Given the description of an element on the screen output the (x, y) to click on. 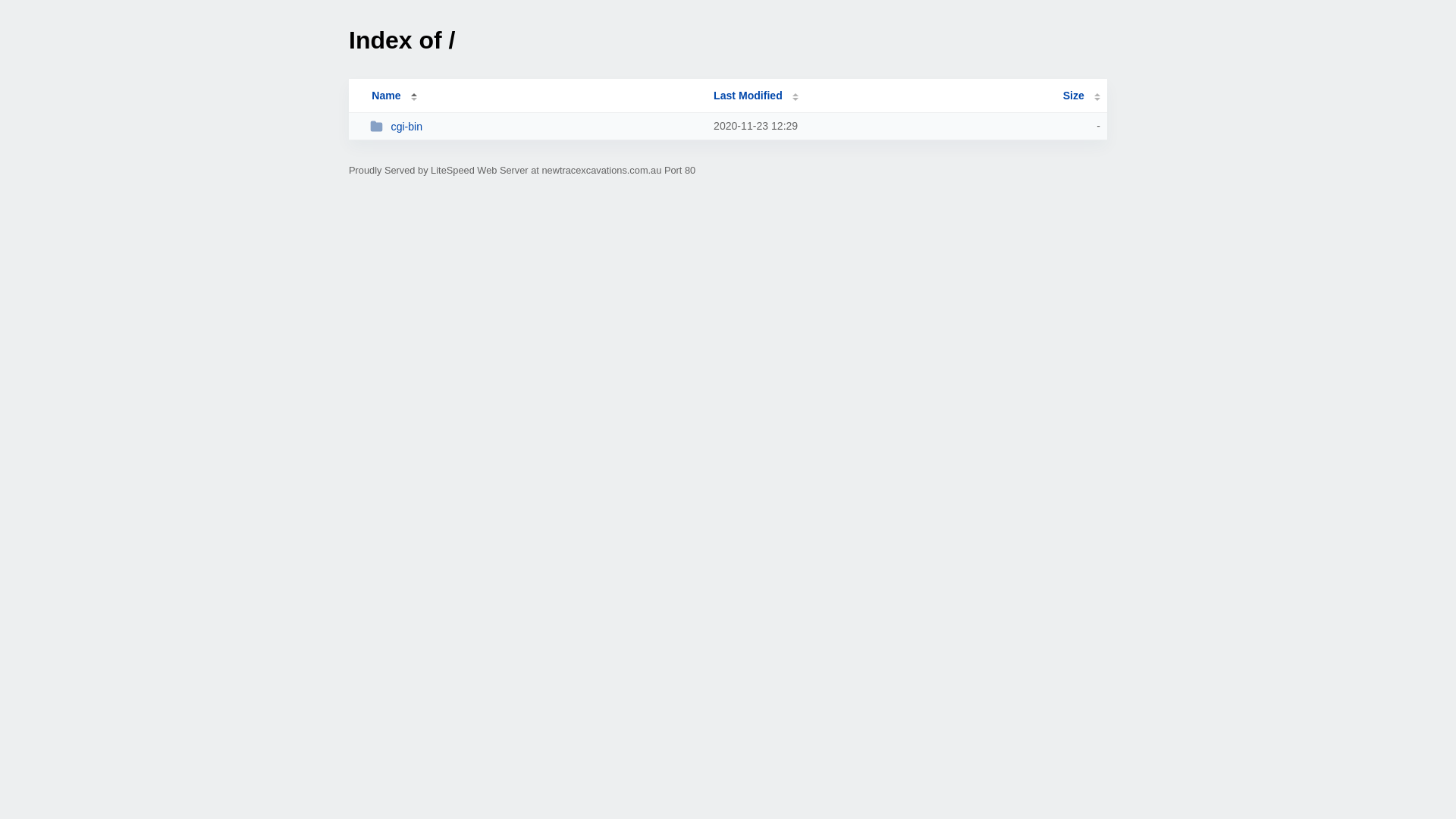
cgi-bin Element type: text (534, 125)
Name Element type: text (385, 95)
Size Element type: text (1081, 95)
Last Modified Element type: text (755, 95)
